Given the description of an element on the screen output the (x, y) to click on. 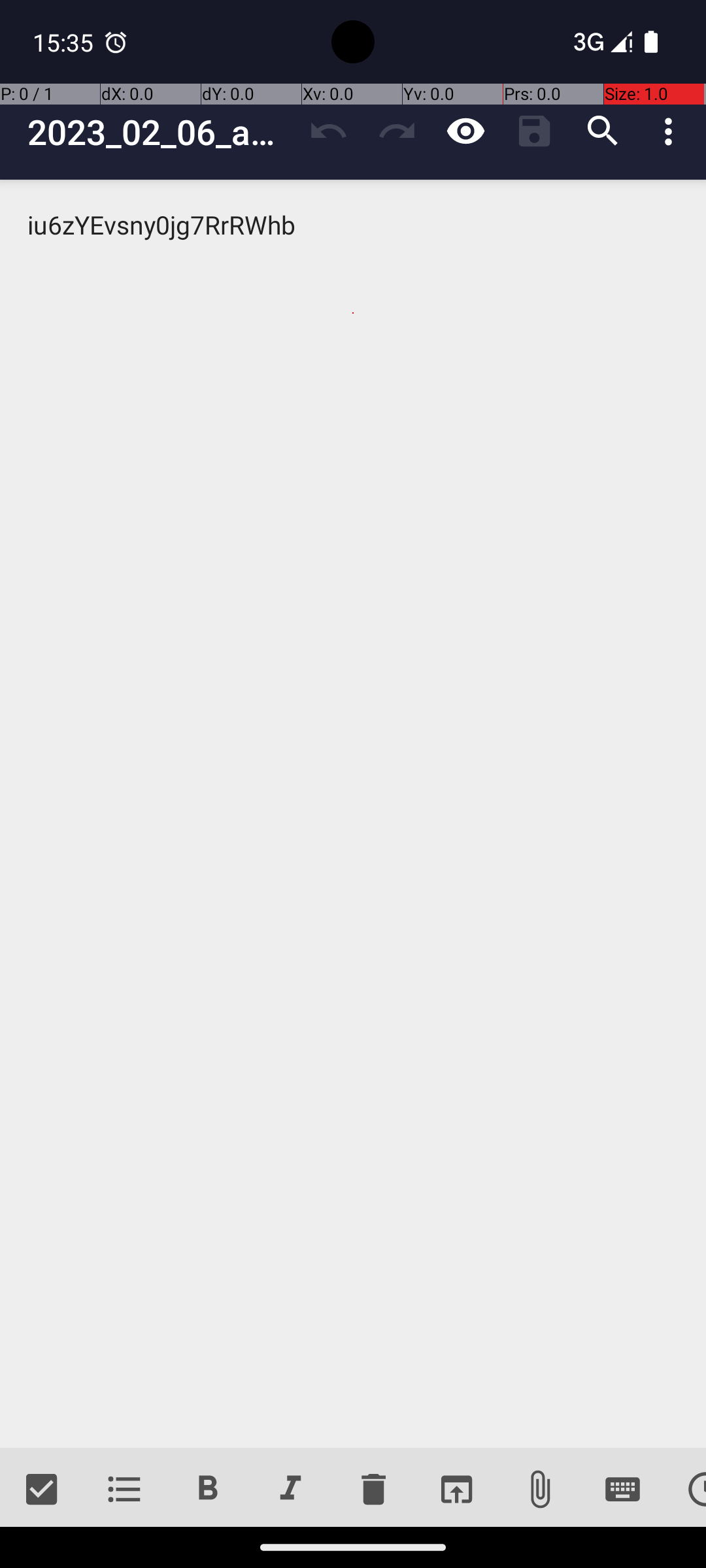
2023_02_06_april_workout_routine Element type: android.widget.TextView (160, 131)
iu6zYEvsny0jg7RrRWhb
 Element type: android.widget.EditText (353, 813)
